Given the description of an element on the screen output the (x, y) to click on. 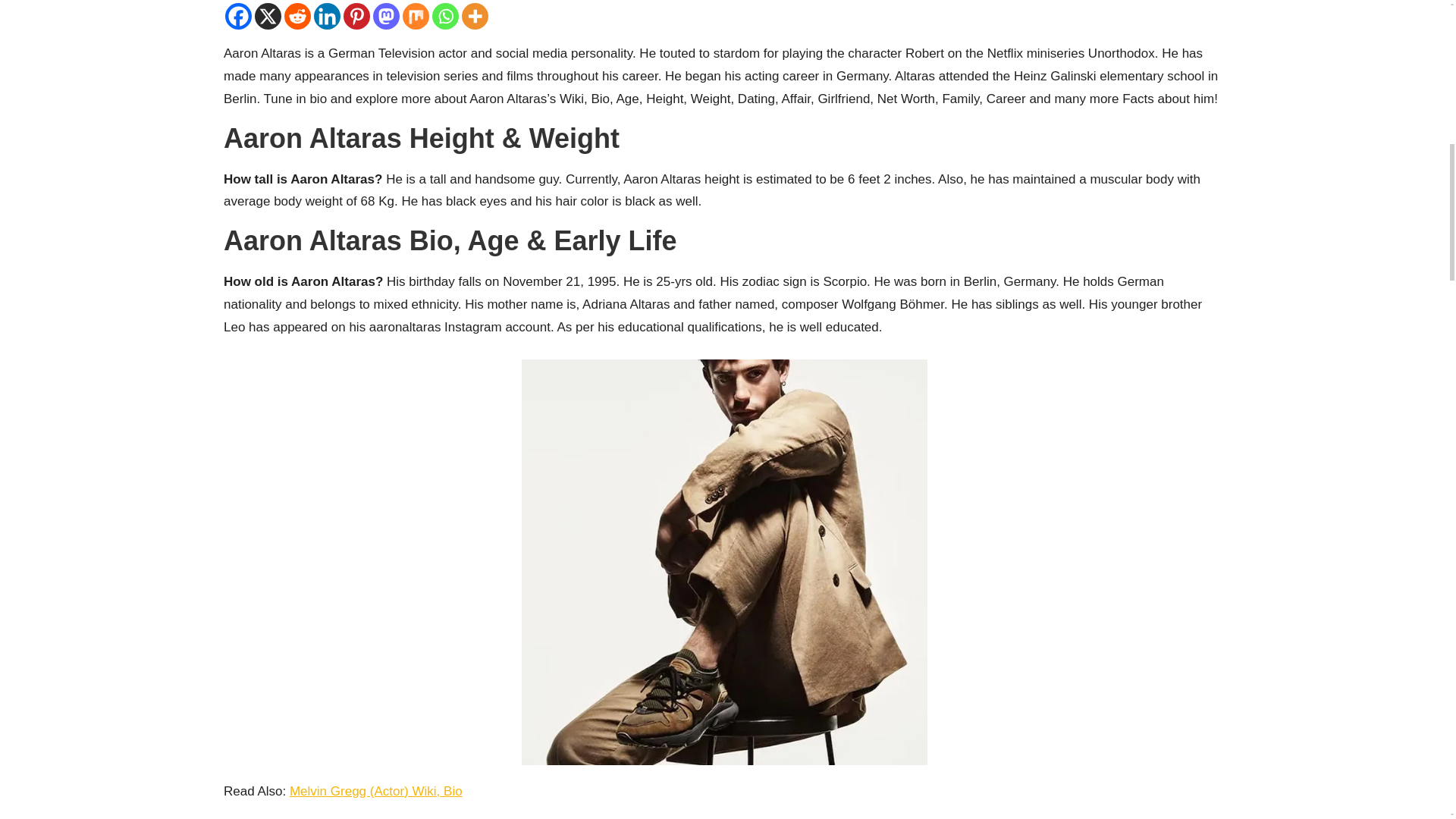
Reddit (297, 16)
Whatsapp (445, 16)
Mix (416, 16)
X (267, 16)
More (474, 16)
Facebook (238, 16)
Linkedin (327, 16)
Pinterest (356, 16)
Mastodon (385, 16)
